Given the description of an element on the screen output the (x, y) to click on. 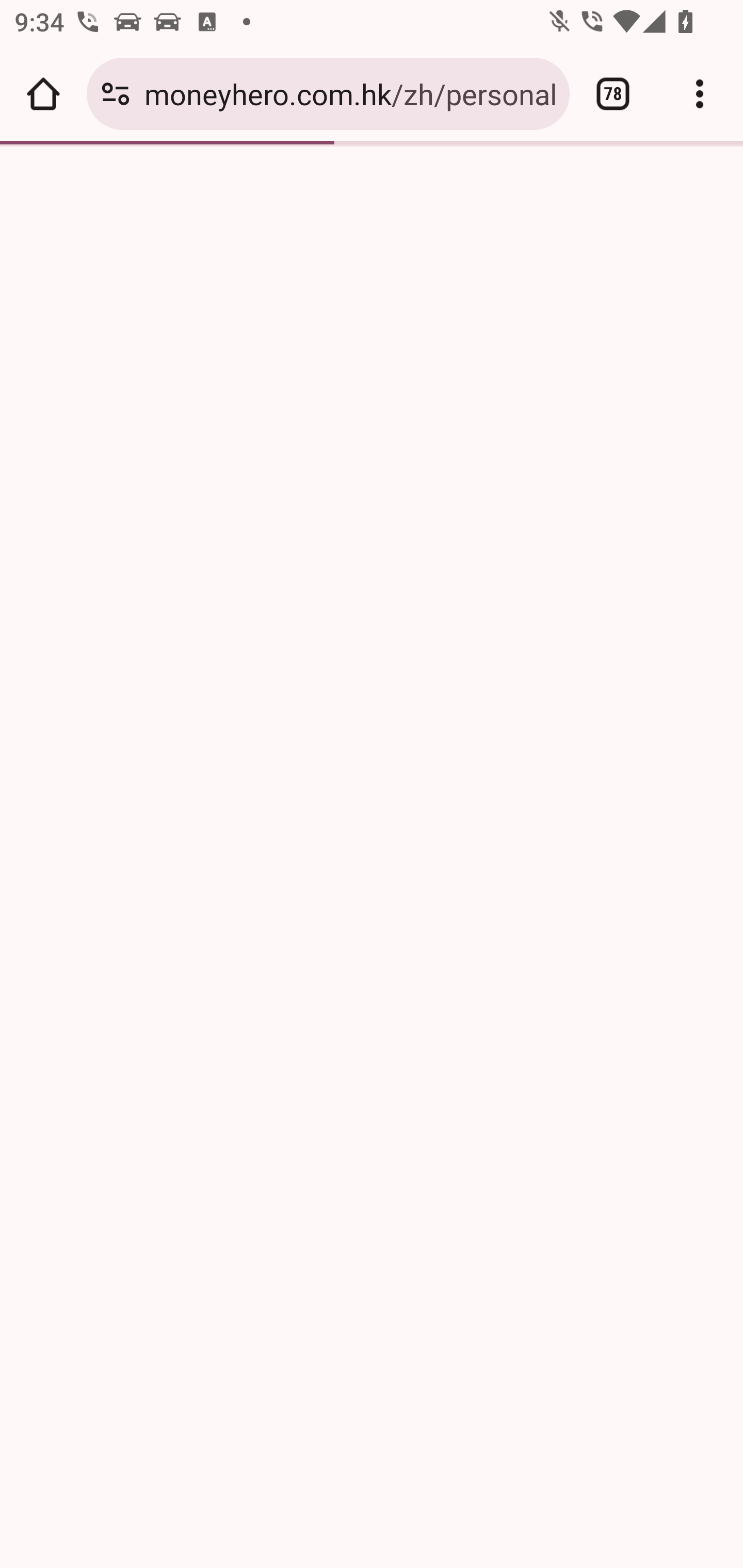
Open the home page (43, 93)
Your connection to this site is not secure (115, 93)
Switch or close tabs (612, 93)
Customize and control Google Chrome (699, 93)
